Given the description of an element on the screen output the (x, y) to click on. 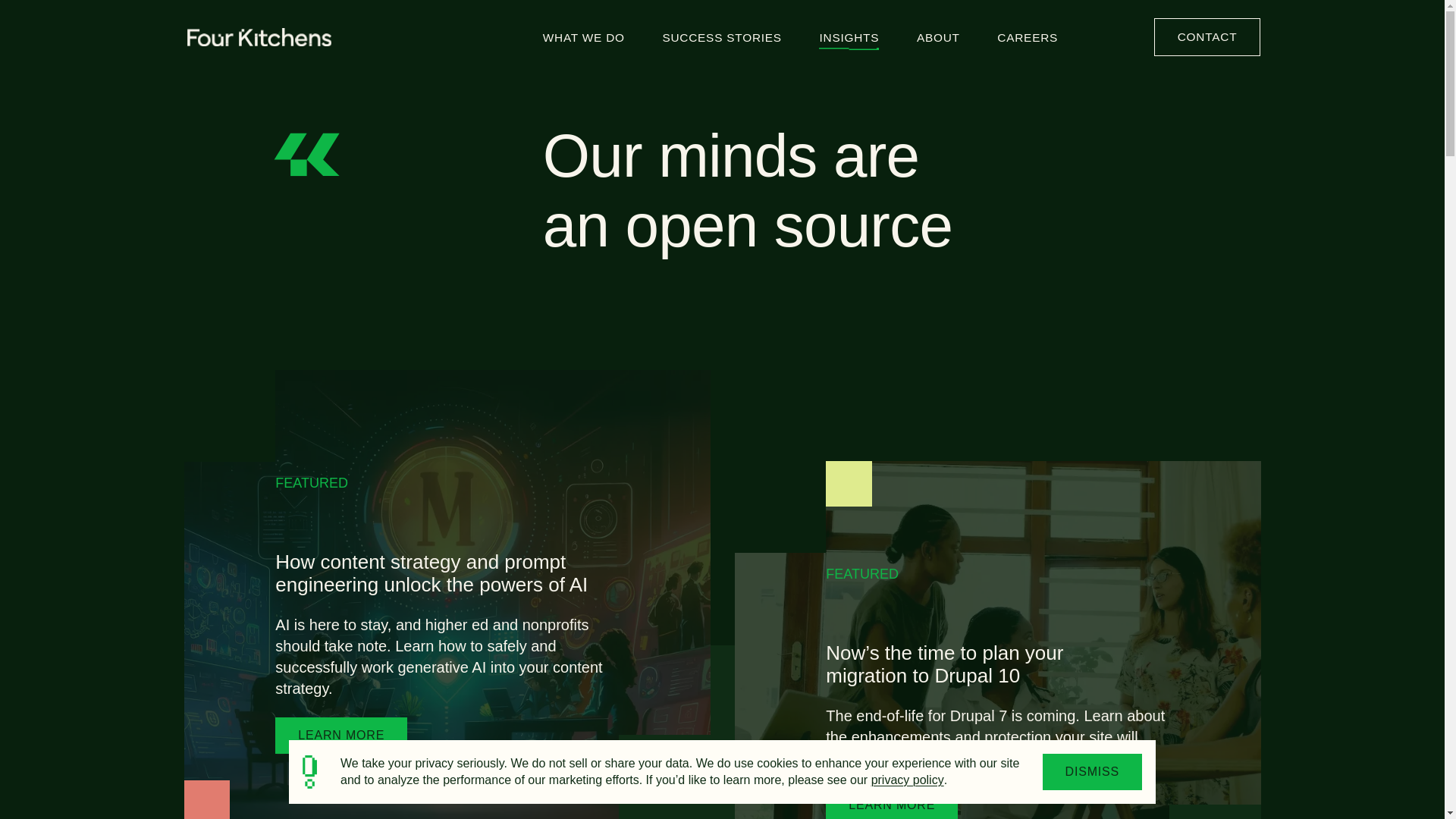
CONTACT (1207, 36)
CAREERS (1026, 37)
ABOUT (938, 37)
SUCCESS STORIES (721, 37)
INSIGHTS (848, 37)
WHAT WE DO (583, 37)
